Given the description of an element on the screen output the (x, y) to click on. 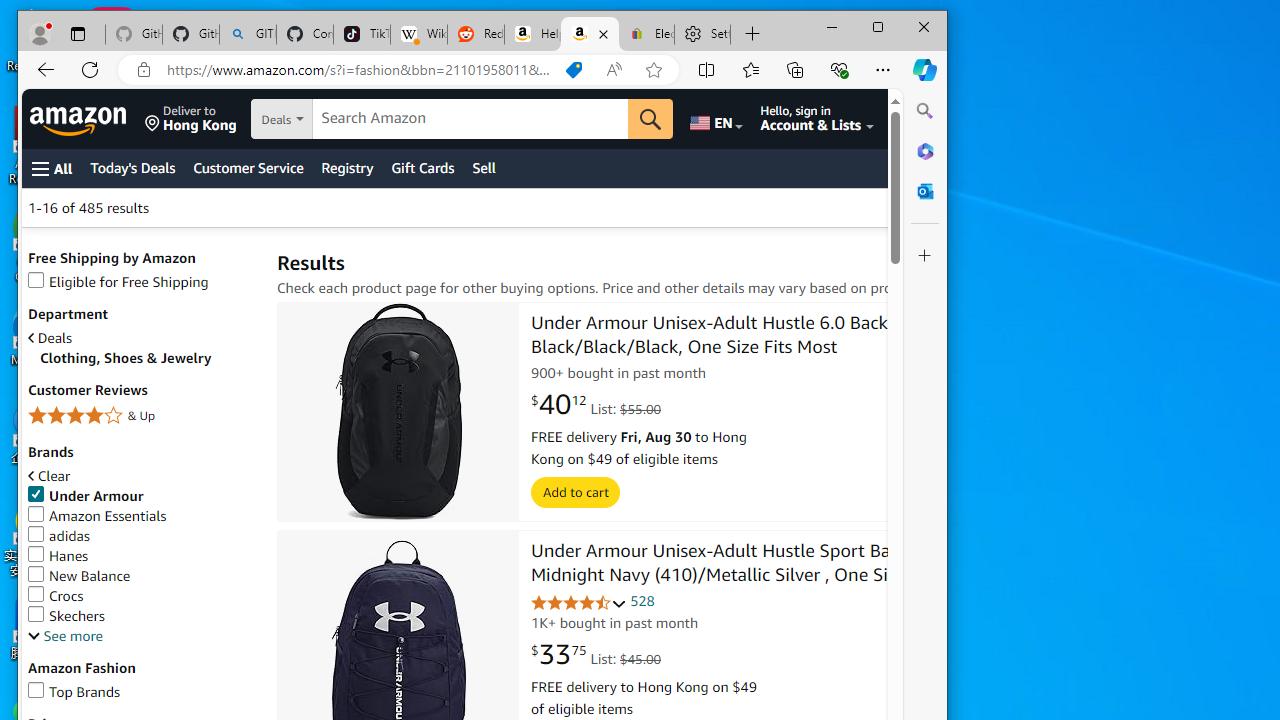
Skechers (142, 615)
Clear (142, 476)
Crocs (142, 596)
Crocs (56, 596)
See more, Brands (65, 636)
Maximize (878, 26)
GITHUB - Search (248, 34)
Today's Deals (132, 168)
528 (642, 601)
